Given the description of an element on the screen output the (x, y) to click on. 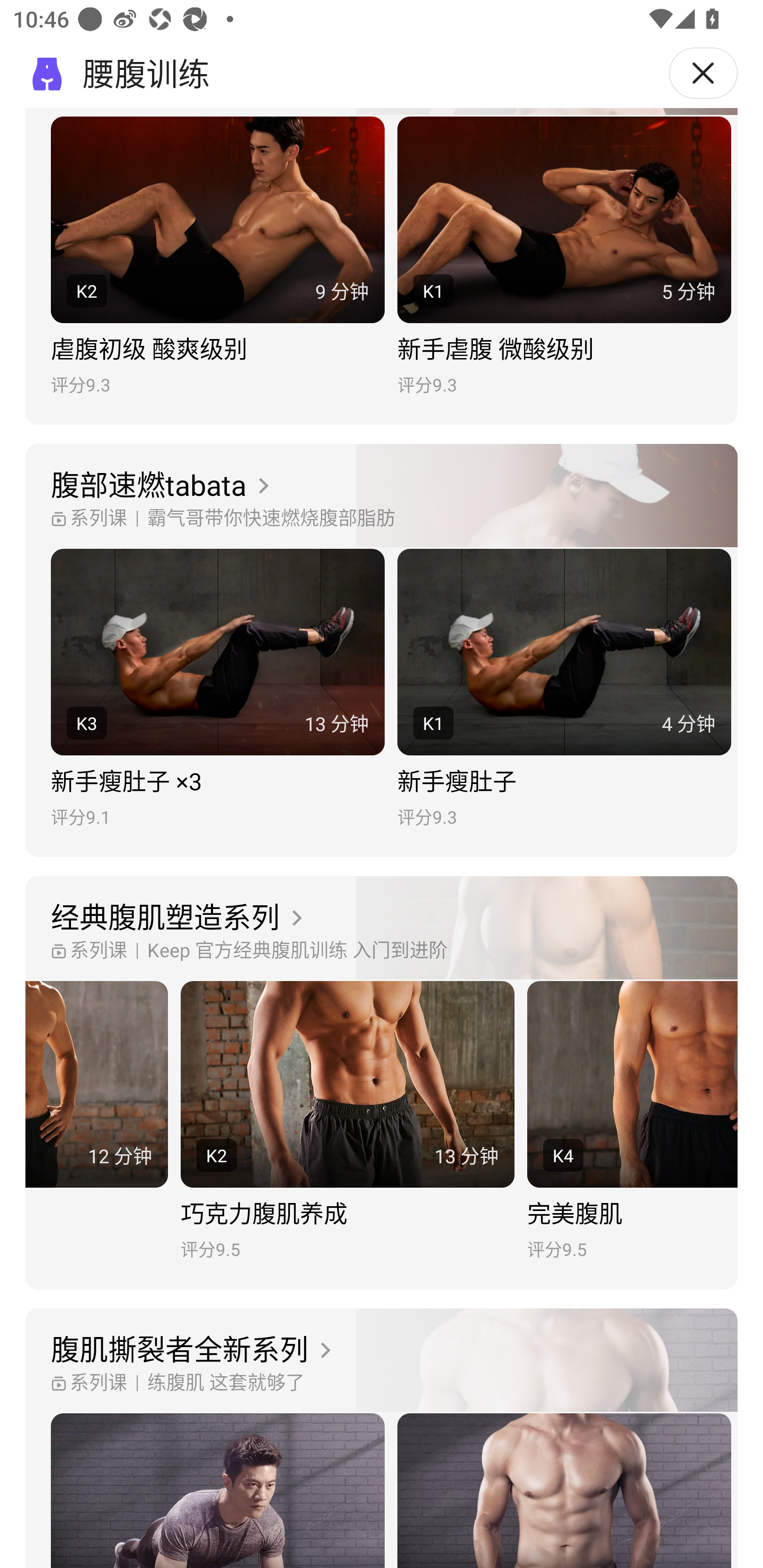
K2 9 分钟 虐腹初级 酸爽级别 评分9.3 (217, 256)
K1 5 分钟 新手虐腹 微酸级别 评分9.3 (563, 256)
腹部速燃tabata 系列课 霸气哥带你快速燃烧腹部脂肪 (381, 495)
K3 13 分钟 新手瘦肚子 ×3 评分9.1 (217, 687)
K1 4 分钟 新手瘦肚子 评分9.3 (563, 687)
经典腹肌塑造系列 系列课 Keep 官方经典腹肌训练 入门到进阶 (381, 928)
K2 13 分钟 巧克力腹肌养成 评分9.5 (347, 1120)
K4 完美腹肌 评分9.5 (632, 1120)
腹肌撕裂者全新系列 系列课 练腹肌 这套就够了 (381, 1359)
